Given the description of an element on the screen output the (x, y) to click on. 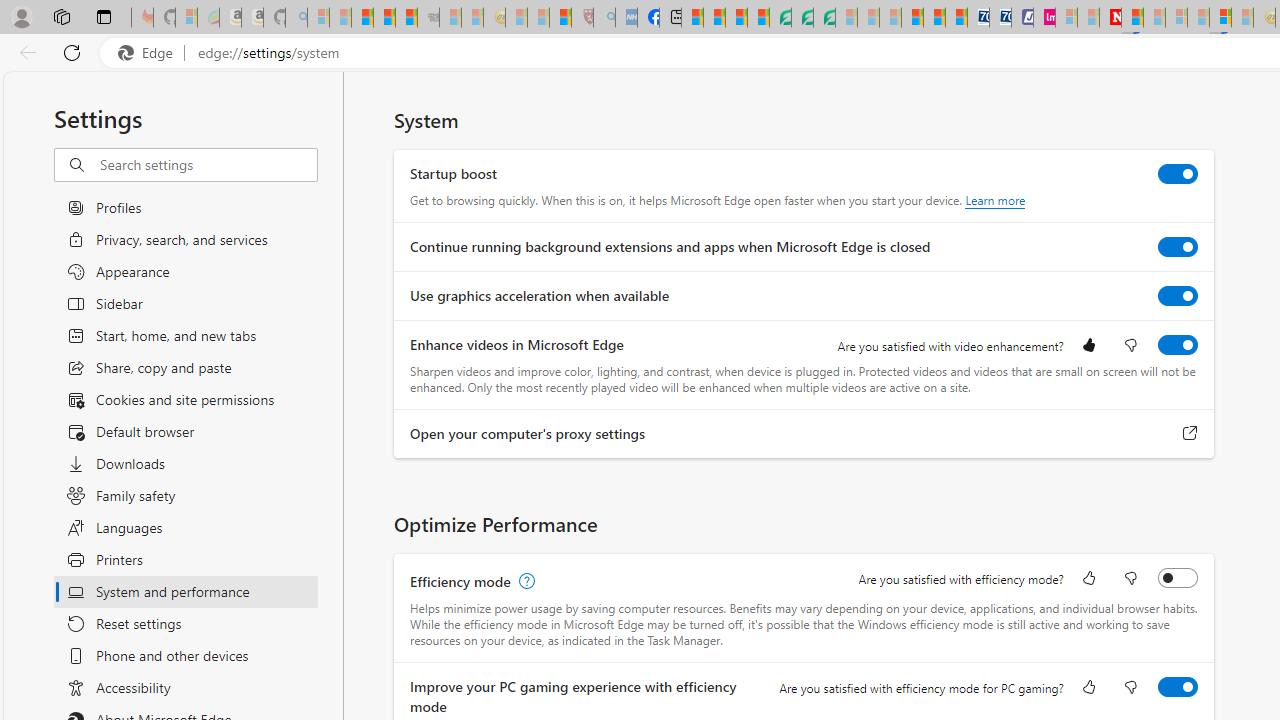
Search settings (207, 165)
Robert H. Shmerling, MD - Harvard Health - Sleeping (582, 17)
list of asthma inhalers uk - Search - Sleeping (604, 17)
World - MSN (736, 17)
LendingTree - Compare Lenders (780, 17)
Terms of Use Agreement (802, 17)
Tab actions menu (104, 16)
